Given the description of an element on the screen output the (x, y) to click on. 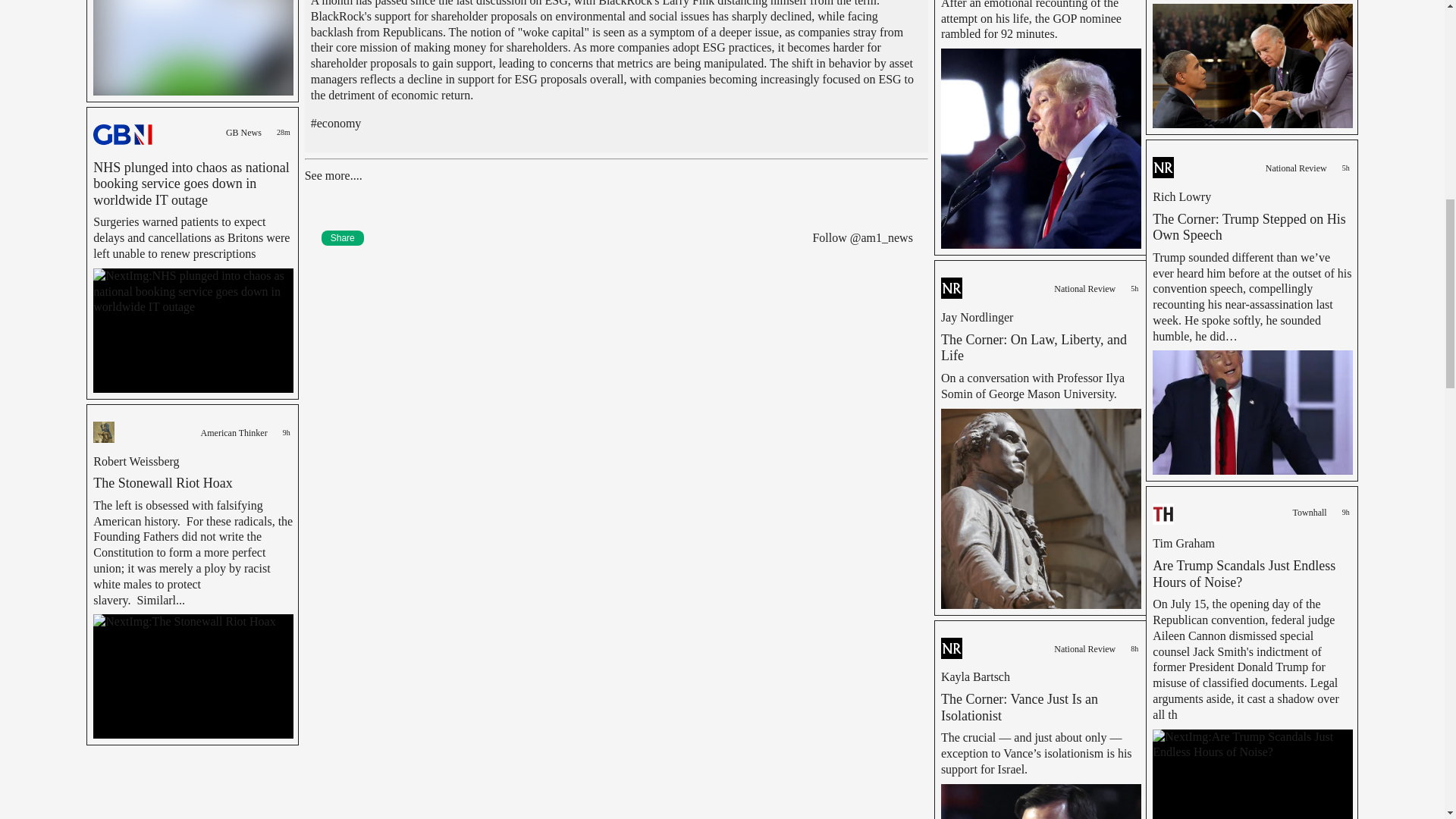
Share (342, 237)
See more.... (333, 174)
